Given the description of an element on the screen output the (x, y) to click on. 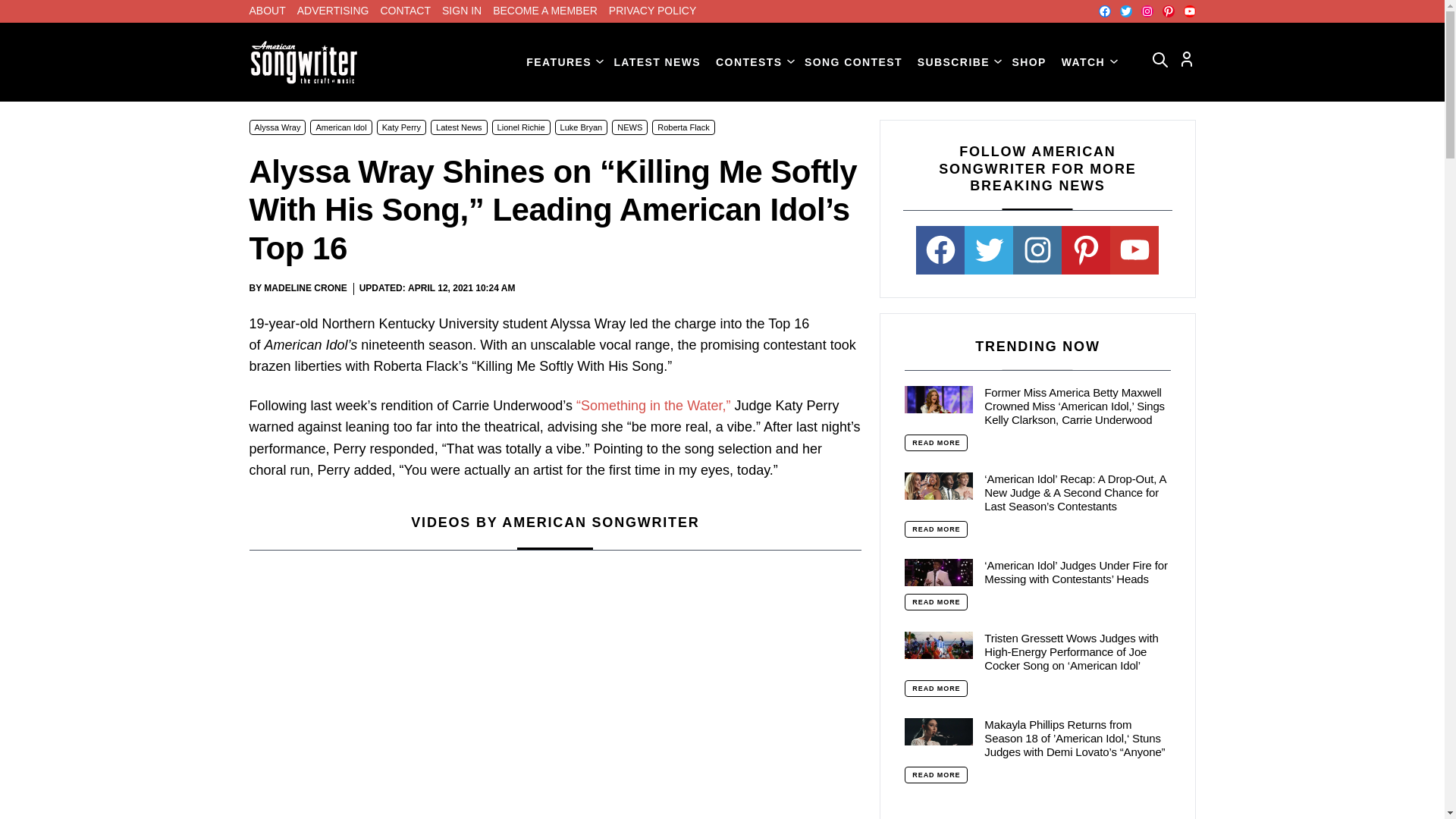
BECOME A MEMBER (544, 10)
YouTube (1188, 10)
SIGN IN (461, 10)
ABOUT (266, 10)
Pinterest (1167, 10)
Facebook (1103, 10)
Instagram (1146, 10)
Posts by Madeline Crone (304, 287)
Twitter (1125, 10)
April 12, 2021 10:24 am (461, 288)
